Given the description of an element on the screen output the (x, y) to click on. 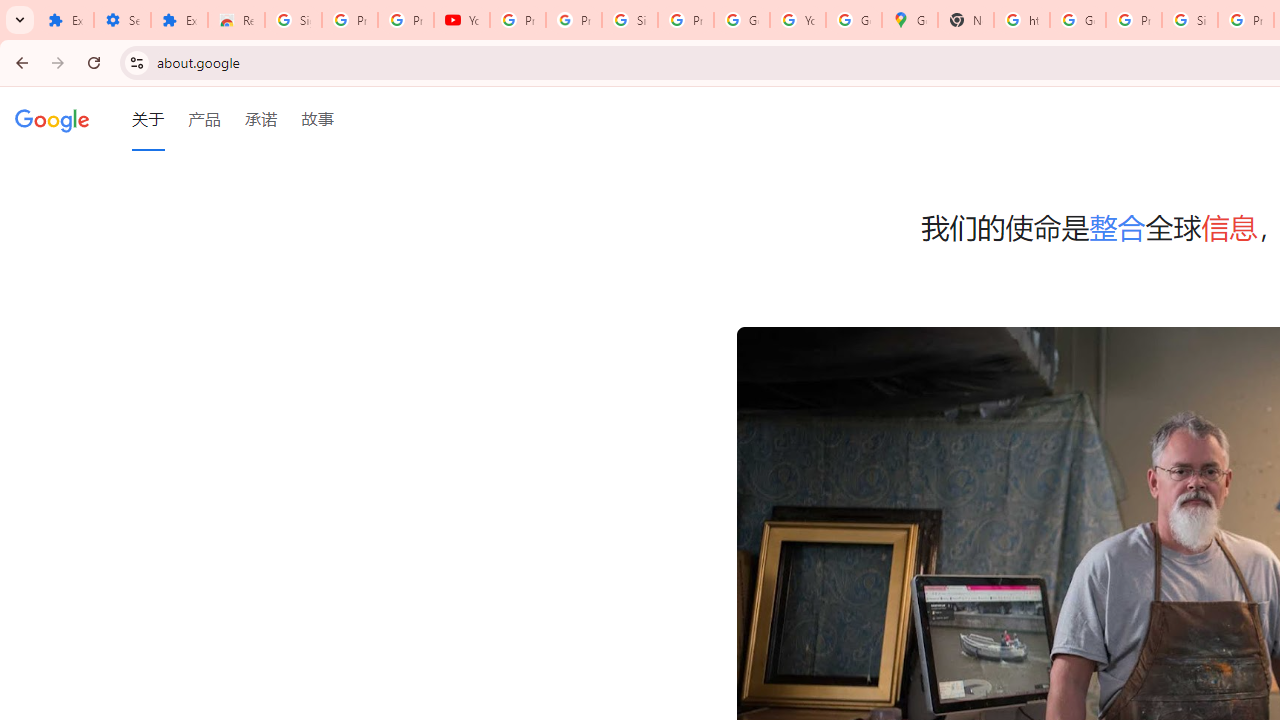
Reviews: Helix Fruit Jump Arcade Game (235, 20)
Extensions (179, 20)
Google Account (742, 20)
Sign in - Google Accounts (629, 20)
YouTube (797, 20)
Google Maps (909, 20)
